Given the description of an element on the screen output the (x, y) to click on. 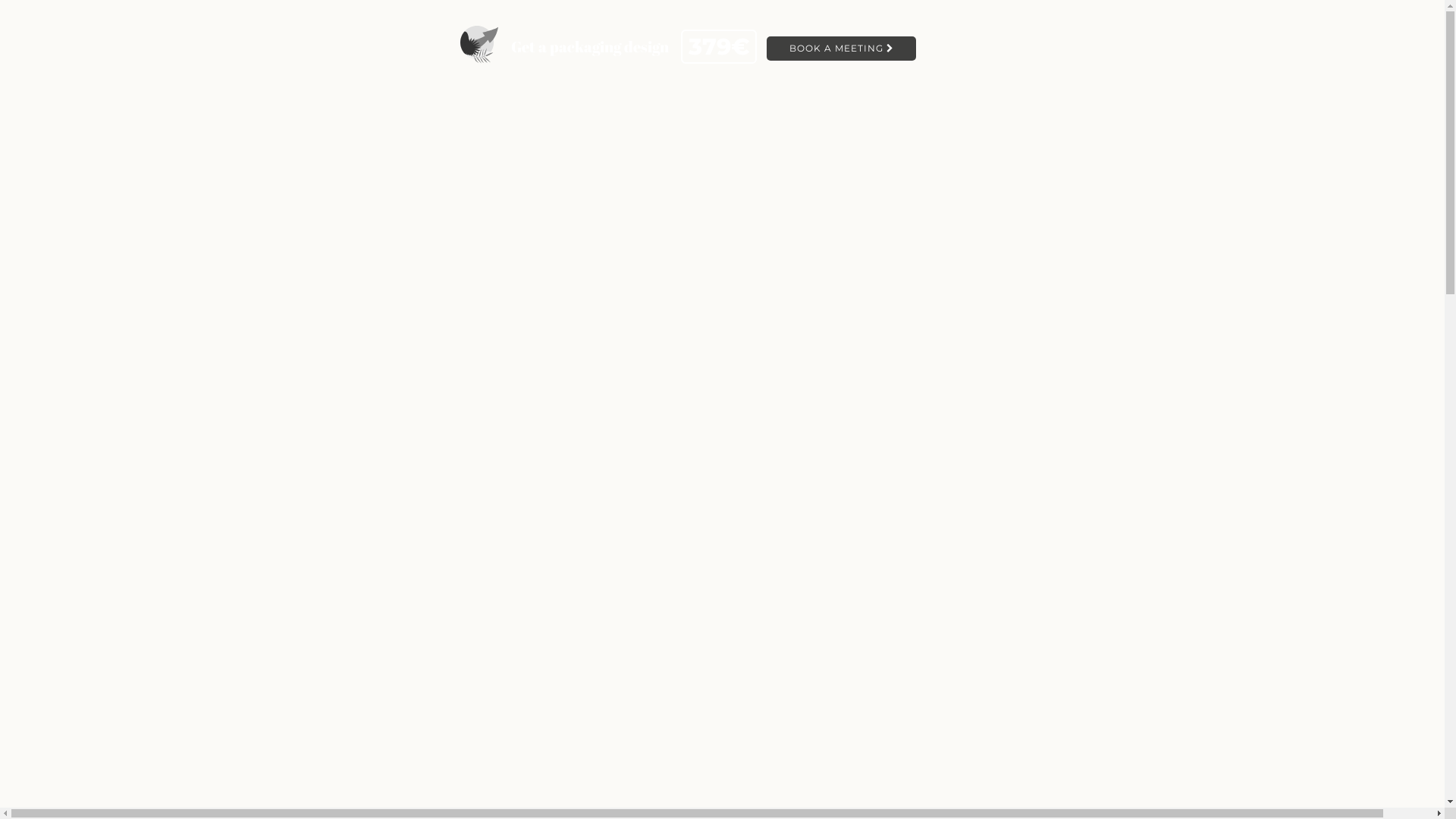
Work Element type: text (20, 560)
Web & Graphic Design Element type: text (112, 519)
Skip to content Element type: text (42, 12)
Go back to homepage Element type: text (482, 681)
Video Production, VR & 360 Element type: text (126, 440)
Home Element type: text (22, 229)
3D Graphics, Animations & Simulations Element type: text (154, 282)
2D Graphics, Animations & Illustrations Element type: text (154, 361)
Photography Element type: text (86, 401)
TPS Protocol automation Element type: text (68, 546)
Brand Identity & Packaging Element type: text (123, 322)
Case studies Element type: text (37, 573)
Contact Element type: text (26, 601)
BOOK A MEETING Element type: text (847, 49)
BOOK A MEETING Element type: text (841, 48)
About us Element type: text (29, 587)
BTL Element type: text (18, 533)
Infographics and Visual Presentations Element type: text (147, 479)
Creative Services Element type: text (49, 243)
